Given the description of an element on the screen output the (x, y) to click on. 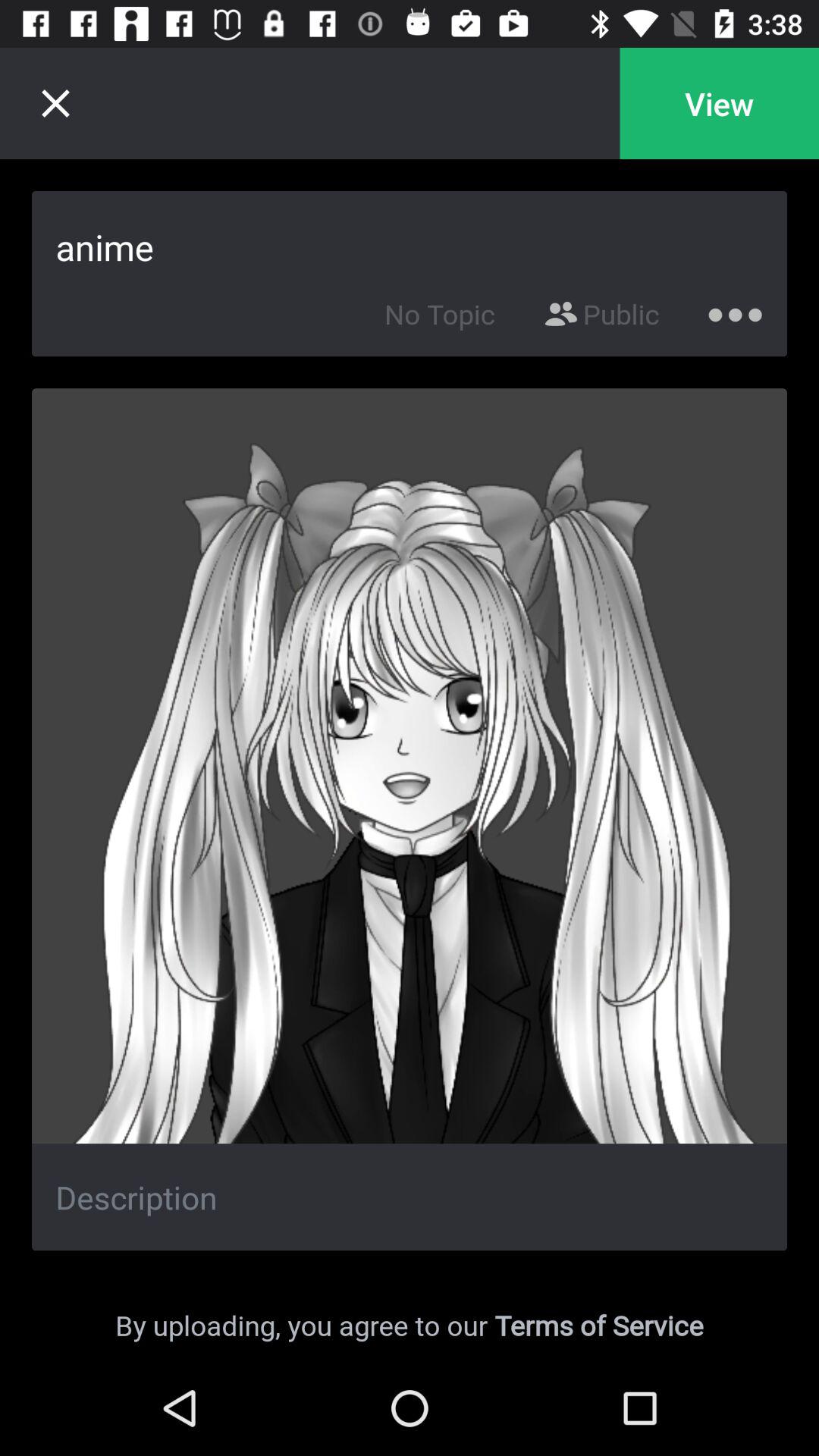
so you can enter a description (409, 1196)
